Given the description of an element on the screen output the (x, y) to click on. 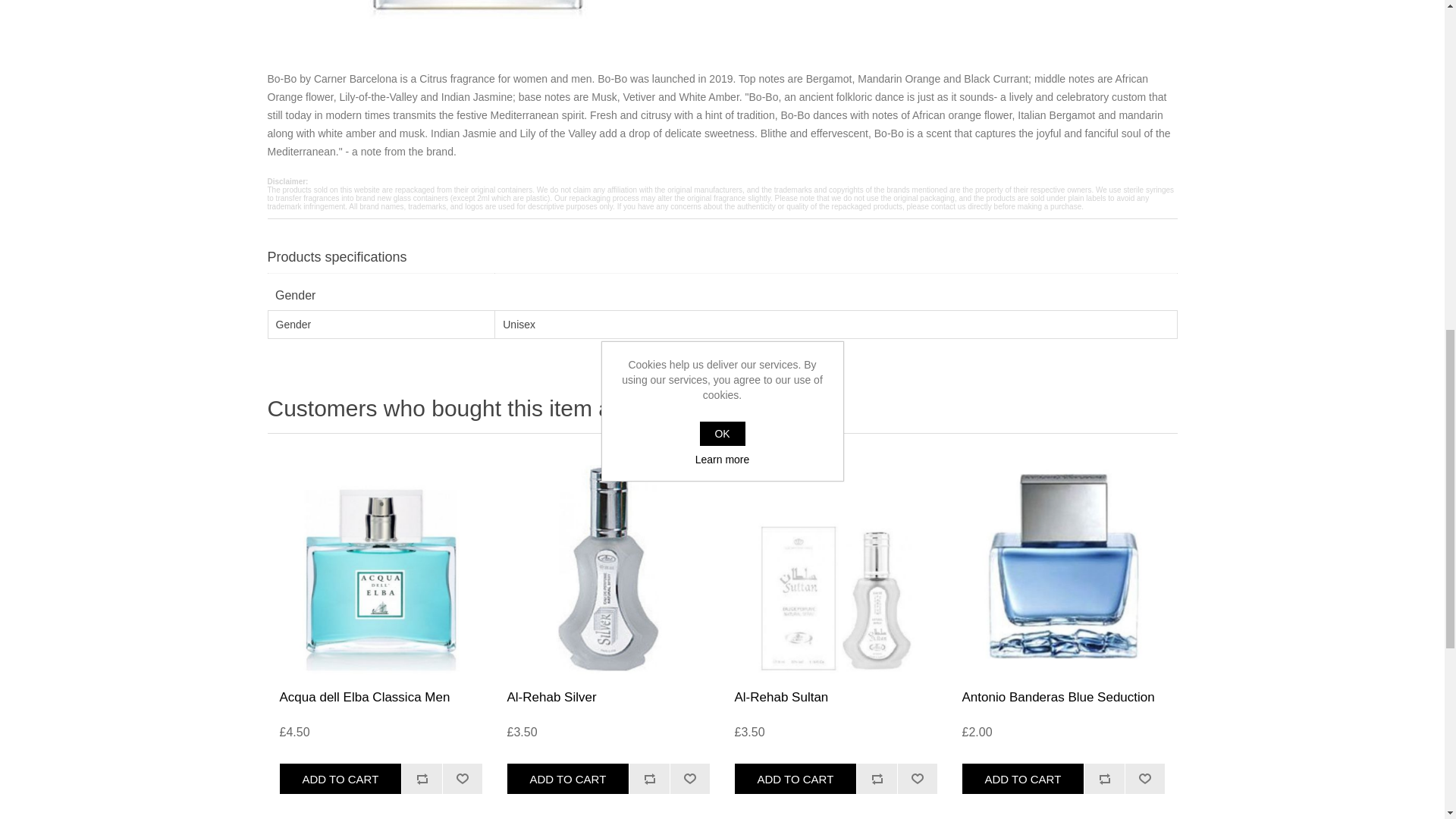
Show details for Al-Rehab Sultan (835, 565)
Add to wishlist (1145, 778)
Add to compare list (421, 778)
Show details for Antonio Banderas Blue Seduction (1062, 565)
Show details for Al-Rehab Sultan (836, 565)
Show details for Al-Rehab Silver (608, 565)
Add to wishlist (916, 778)
Add to compare list (421, 778)
Add to wishlist (689, 778)
Show details for Acqua dell Elba Classica Men (379, 565)
Add to wishlist (462, 778)
Picture of Carner Barcelona Bo-Bo (475, 11)
Show details for Acqua dell Elba Classica Men (381, 565)
Show details for Antonio Banderas Blue Seduction (1063, 565)
ADD TO CART (340, 778)
